Given the description of an element on the screen output the (x, y) to click on. 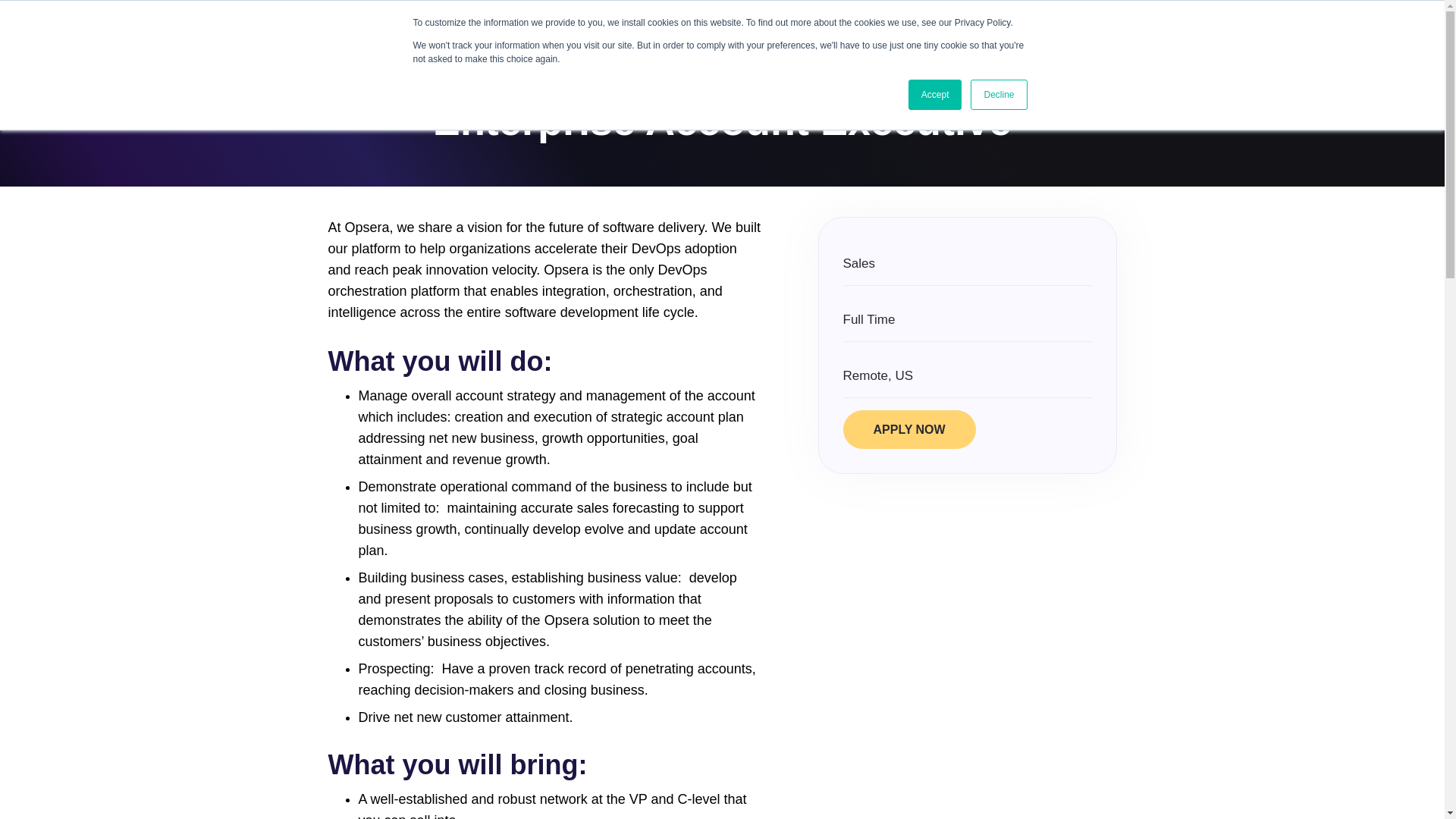
Why Opsera (518, 27)
Solutions (614, 27)
Decline (998, 94)
Platform (423, 27)
Accept (935, 94)
